Given the description of an element on the screen output the (x, y) to click on. 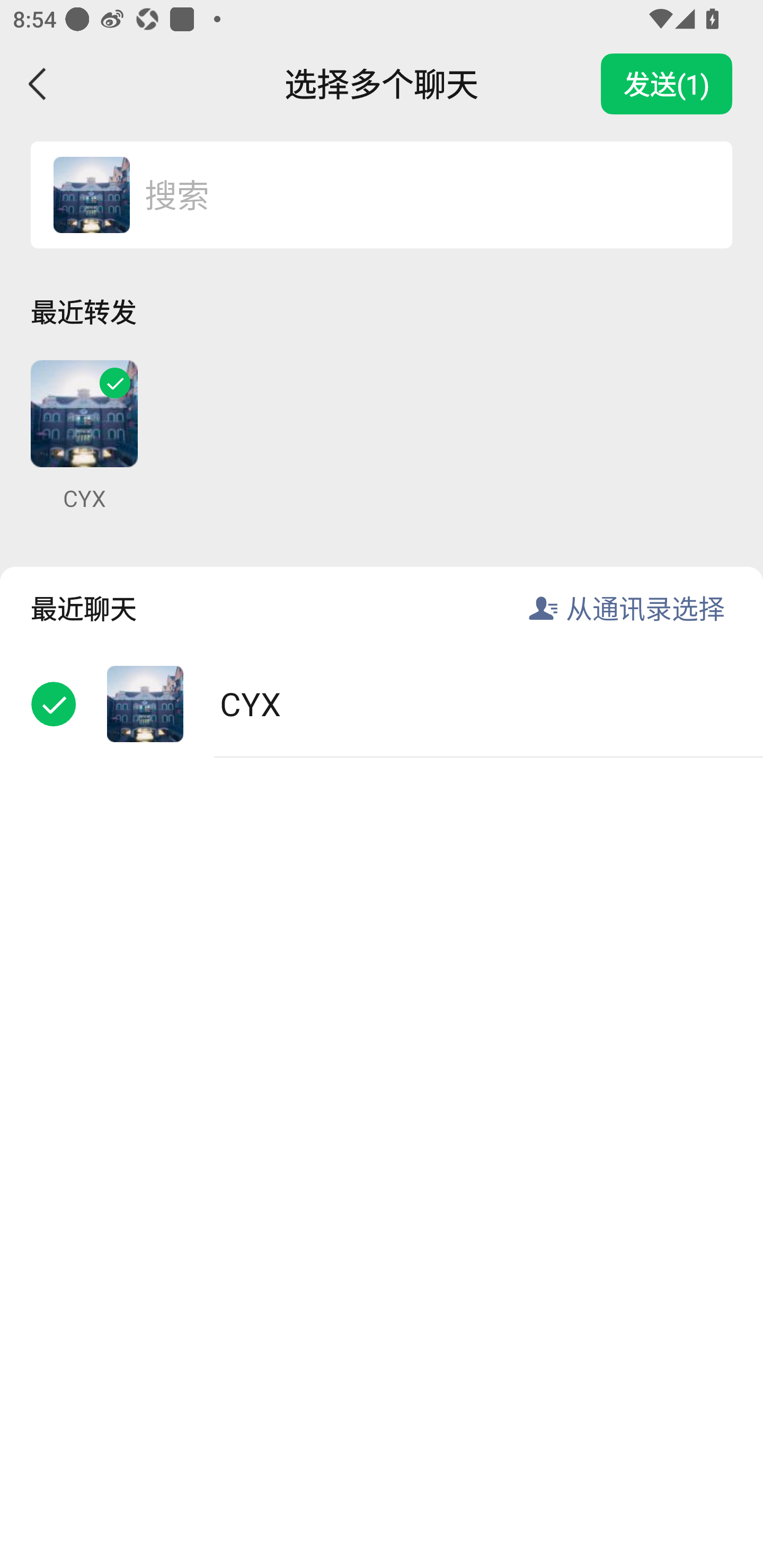
返回 (38, 83)
发送(1) (666, 83)
CYX (91, 194)
搜索 (418, 194)
CYX (84, 436)
从通讯录选择 (645, 608)
CYX (381, 703)
